Given the description of an element on the screen output the (x, y) to click on. 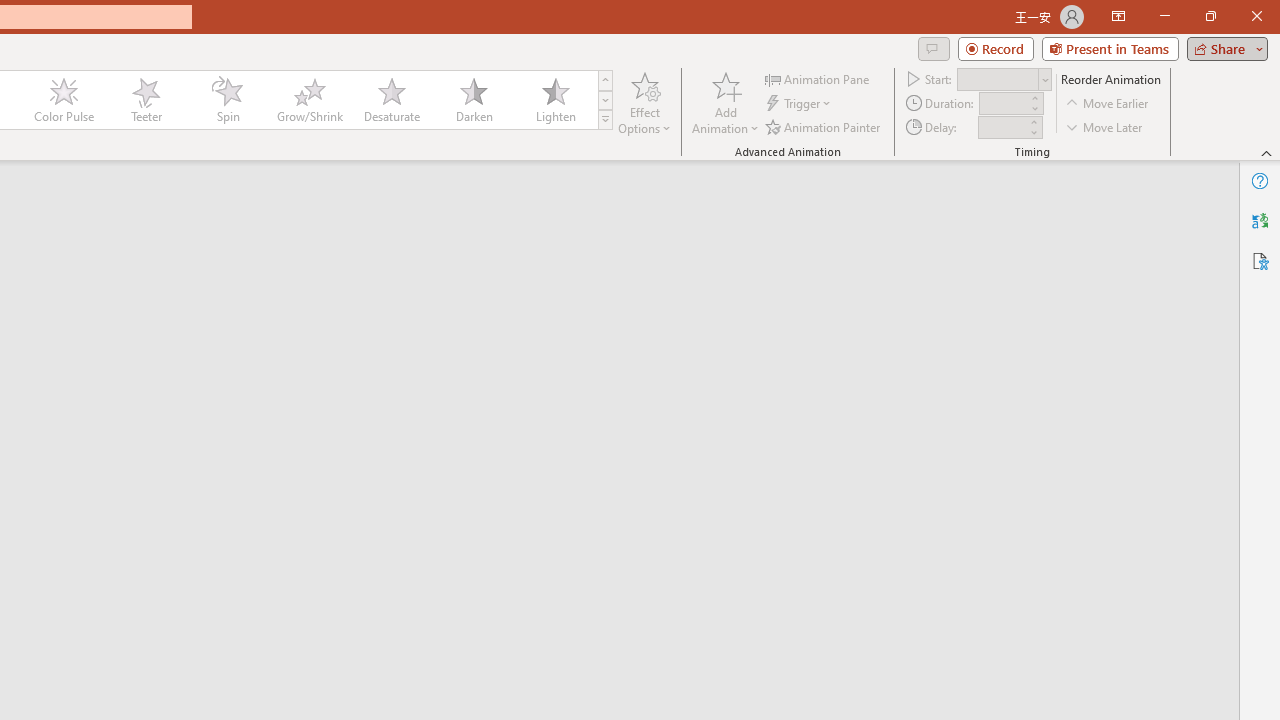
Color Pulse (63, 100)
Desaturate (391, 100)
Animation Painter (824, 126)
Animation Pane (818, 78)
